Given the description of an element on the screen output the (x, y) to click on. 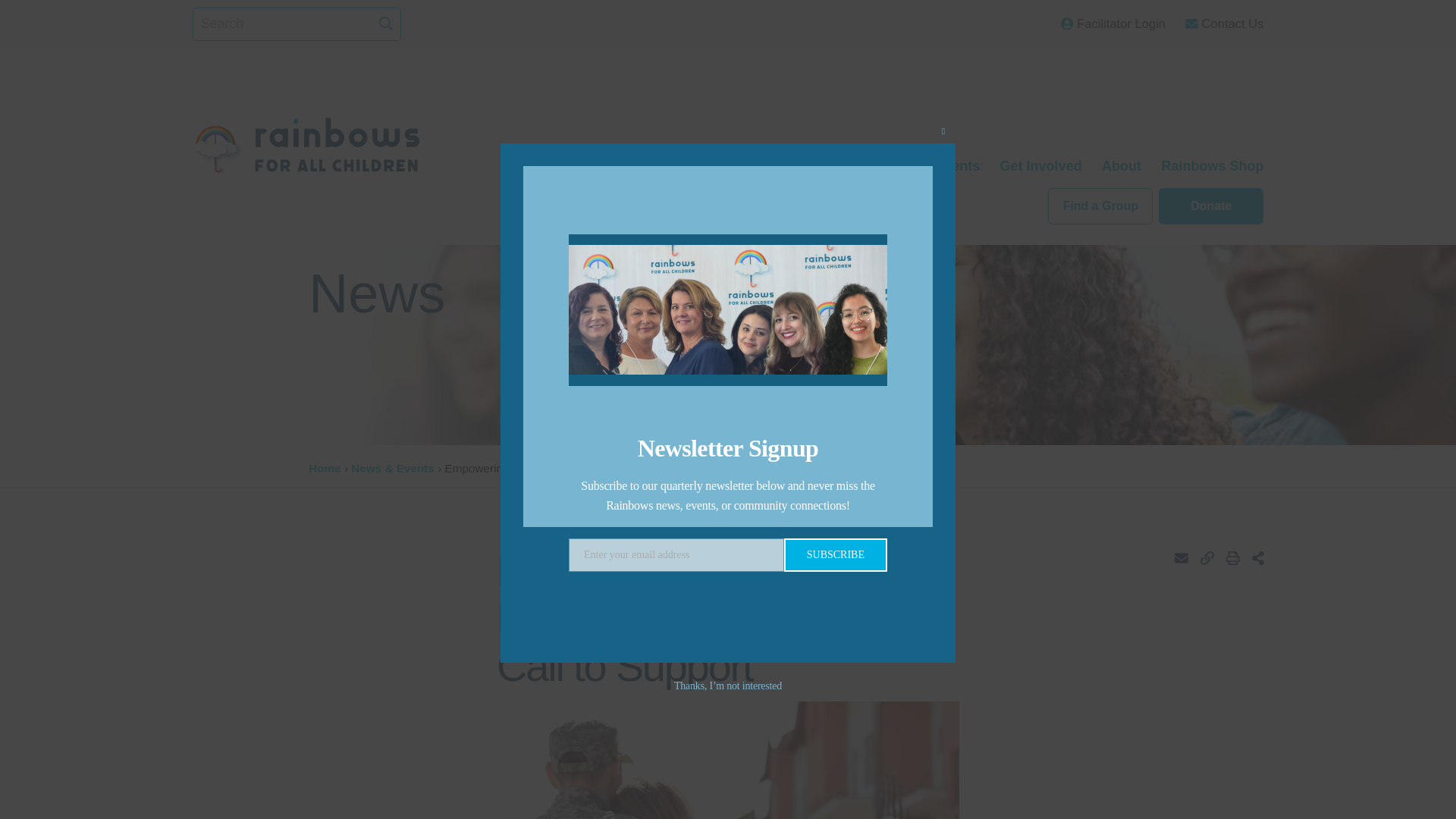
Resources (754, 166)
Programs (666, 166)
About (1121, 166)
Contact Us (1224, 23)
Podcast (835, 166)
Facilitator Login (1113, 23)
Get Involved (1040, 166)
